Given the description of an element on the screen output the (x, y) to click on. 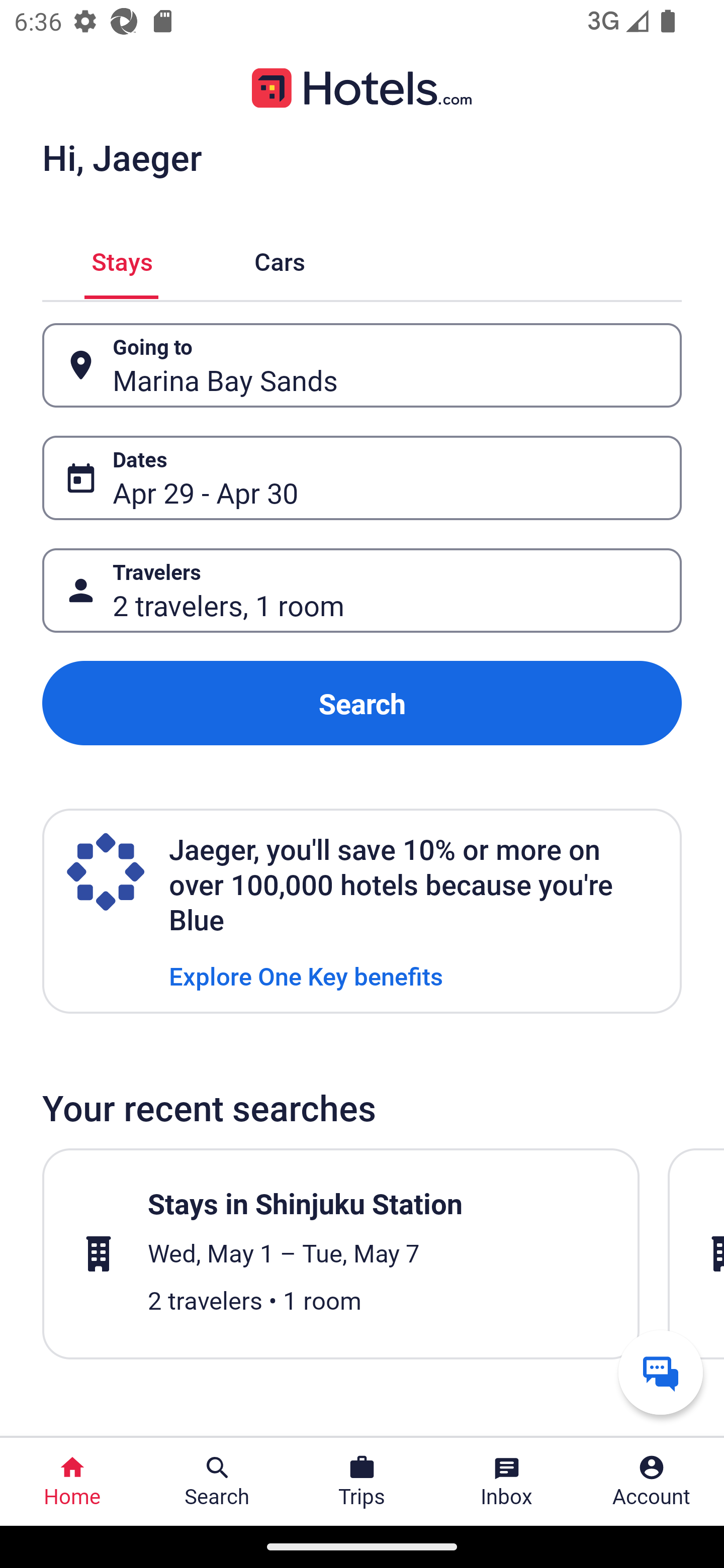
Hi, Jaeger (121, 156)
Cars (279, 259)
Going to Button Marina Bay Sands (361, 365)
Dates Button Apr 29 - Apr 30 (361, 477)
Travelers Button 2 travelers, 1 room (361, 590)
Search (361, 702)
Get help from a virtual agent (660, 1371)
Search Search Button (216, 1481)
Trips Trips Button (361, 1481)
Inbox Inbox Button (506, 1481)
Account Profile. Button (651, 1481)
